Given the description of an element on the screen output the (x, y) to click on. 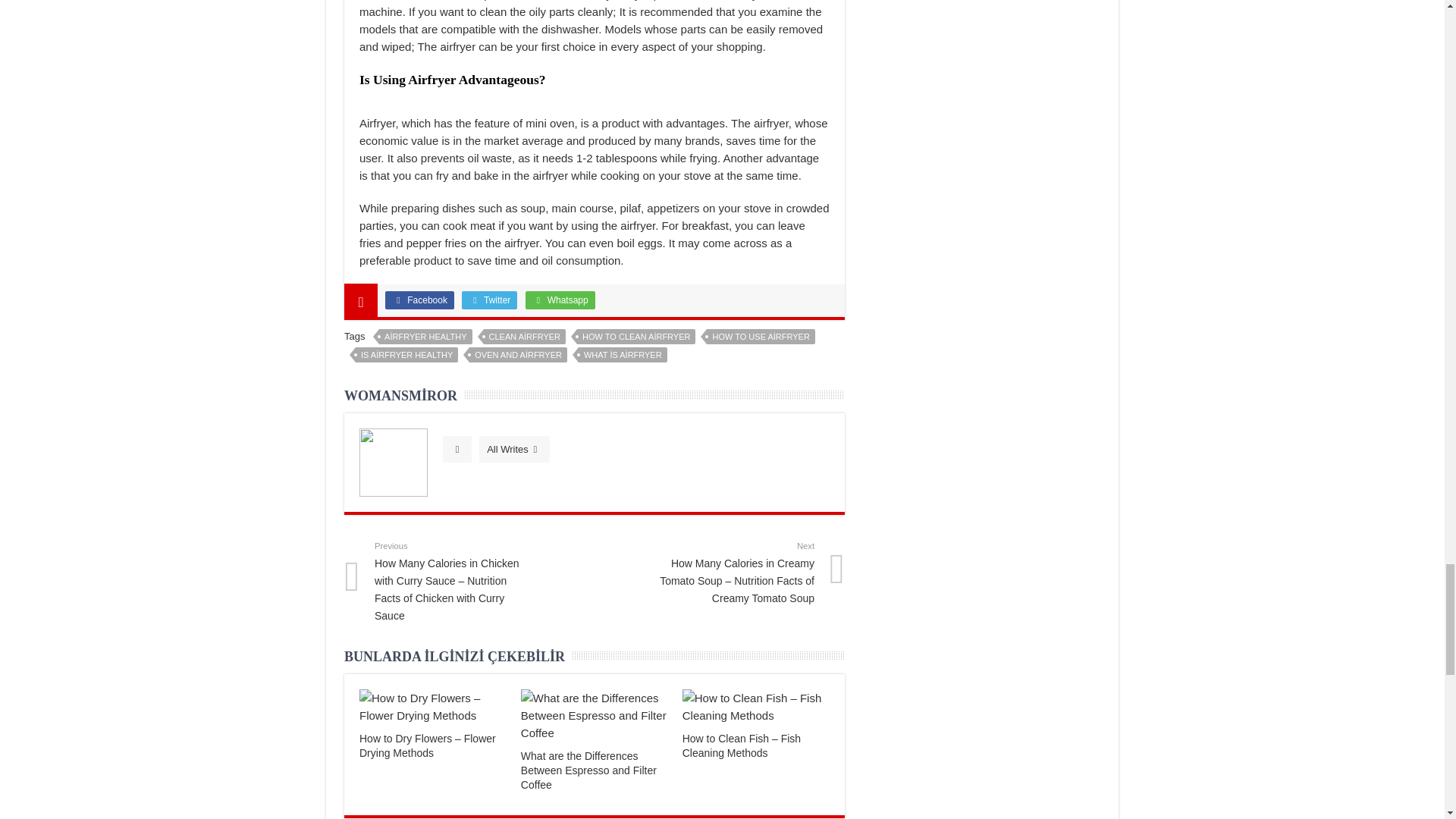
Facebook (419, 300)
Whatsapp (560, 300)
Twitter (488, 300)
AIRFRYER HEALTHY (424, 336)
CLEAN AIRFRYER (524, 336)
